Given the description of an element on the screen output the (x, y) to click on. 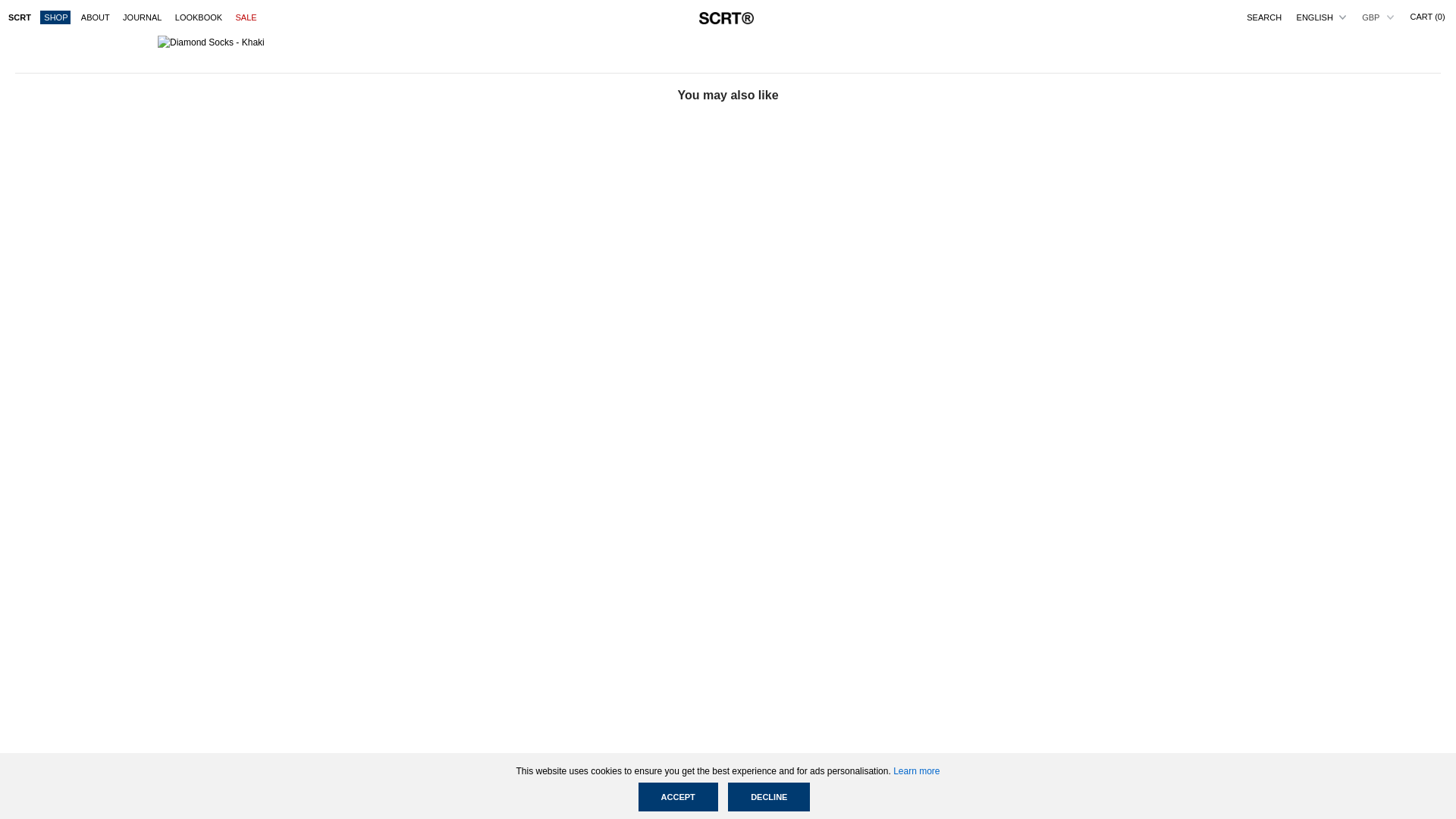
SEARCH (1263, 17)
SALE (245, 17)
JOURNAL (141, 17)
DECLINE (768, 796)
SHOP (54, 17)
ACCEPT (678, 796)
LOOKBOOK (198, 17)
SCRT (18, 17)
ENGLISH (1323, 17)
ABOUT (95, 17)
Learn more (916, 770)
